Given the description of an element on the screen output the (x, y) to click on. 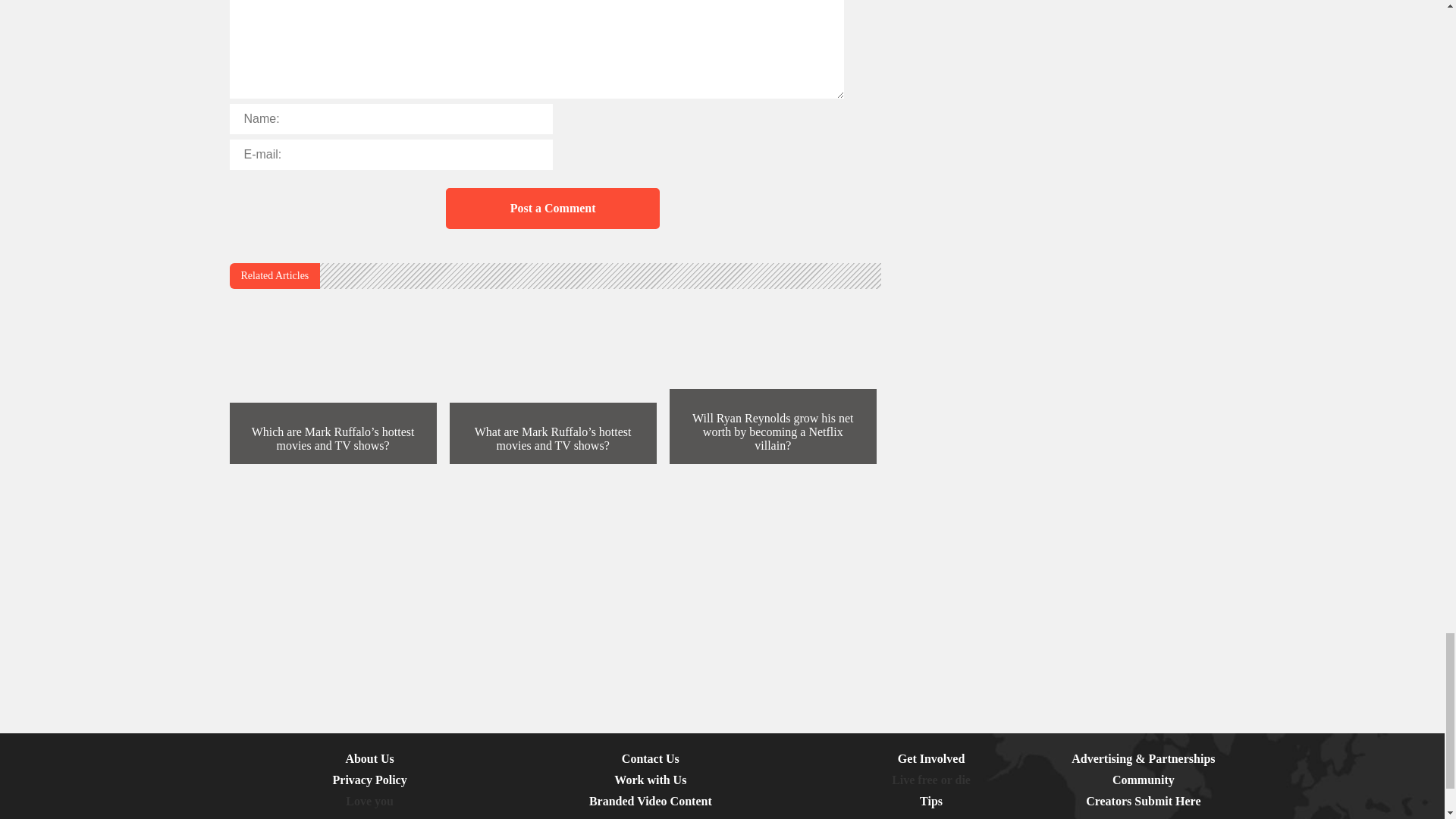
Post a Comment (552, 208)
